Given the description of an element on the screen output the (x, y) to click on. 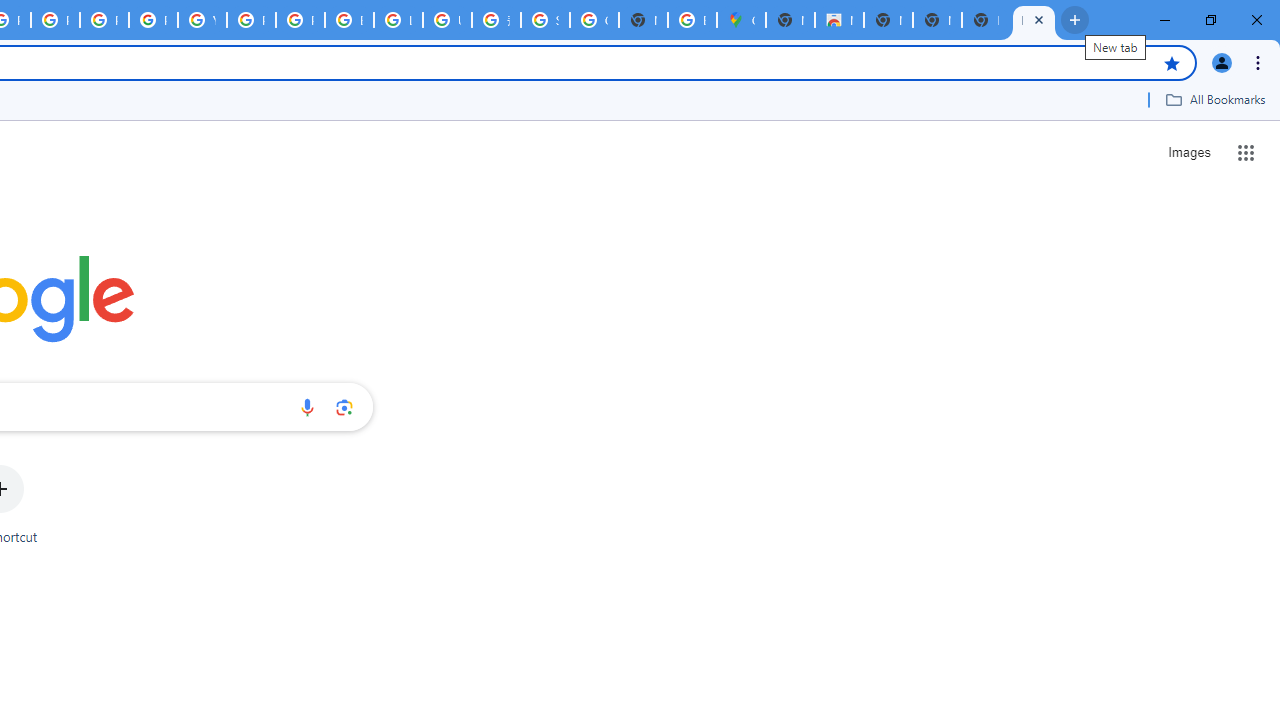
Search by voice (307, 407)
YouTube (201, 20)
New Tab (790, 20)
Browse Chrome as a guest - Computer - Google Chrome Help (349, 20)
Privacy Help Center - Policies Help (55, 20)
All Bookmarks (1215, 99)
Sign in - Google Accounts (545, 20)
Explore new street-level details - Google Maps Help (692, 20)
Search by image (344, 407)
Google apps (1245, 152)
